Given the description of an element on the screen output the (x, y) to click on. 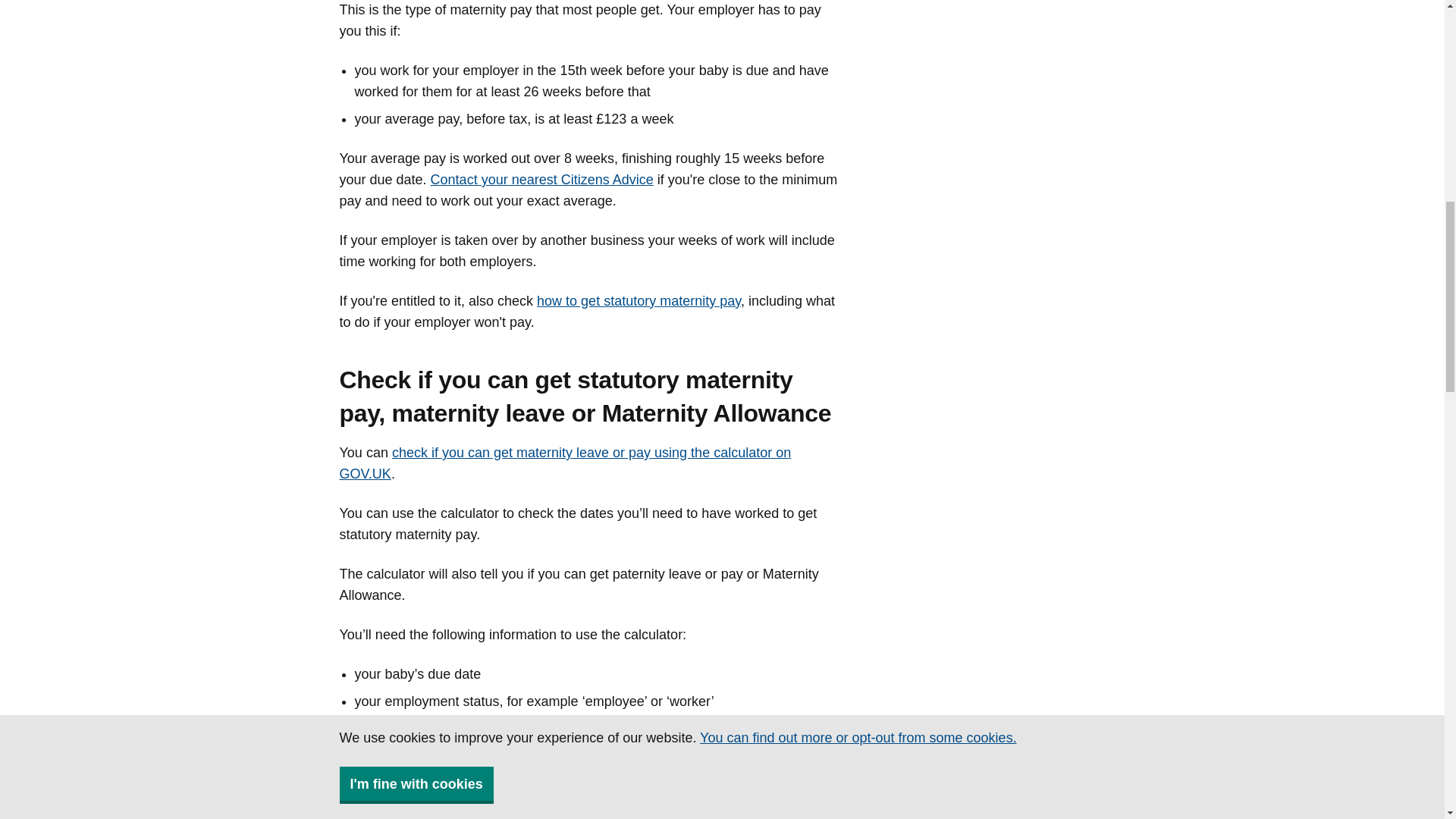
how to get statutory maternity pay (639, 300)
Contact your nearest Citizens Advice (541, 179)
